Given the description of an element on the screen output the (x, y) to click on. 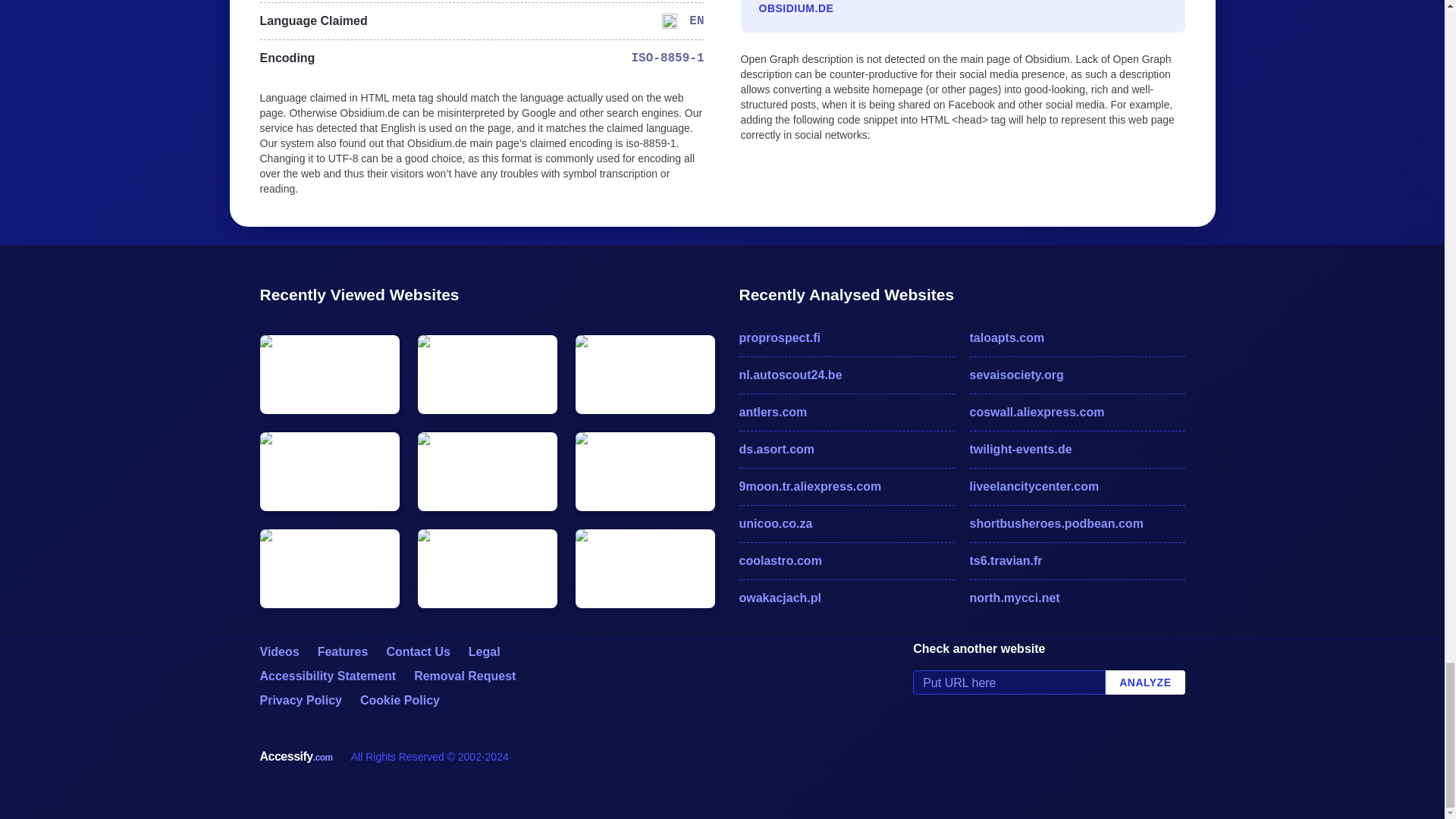
shortbusheroes.podbean.com (1077, 524)
twilight-events.de (1077, 449)
north.mycci.net (1077, 597)
sevaisociety.org (1077, 375)
9moon.tr.aliexpress.com (845, 486)
unicoo.co.za (845, 524)
coswall.aliexpress.com (1077, 412)
liveelancitycenter.com (1077, 486)
Videos (278, 651)
ds.asort.com (845, 449)
proprospect.fi (845, 338)
Features (342, 651)
Legal (484, 651)
taloapts.com (1077, 338)
